Given the description of an element on the screen output the (x, y) to click on. 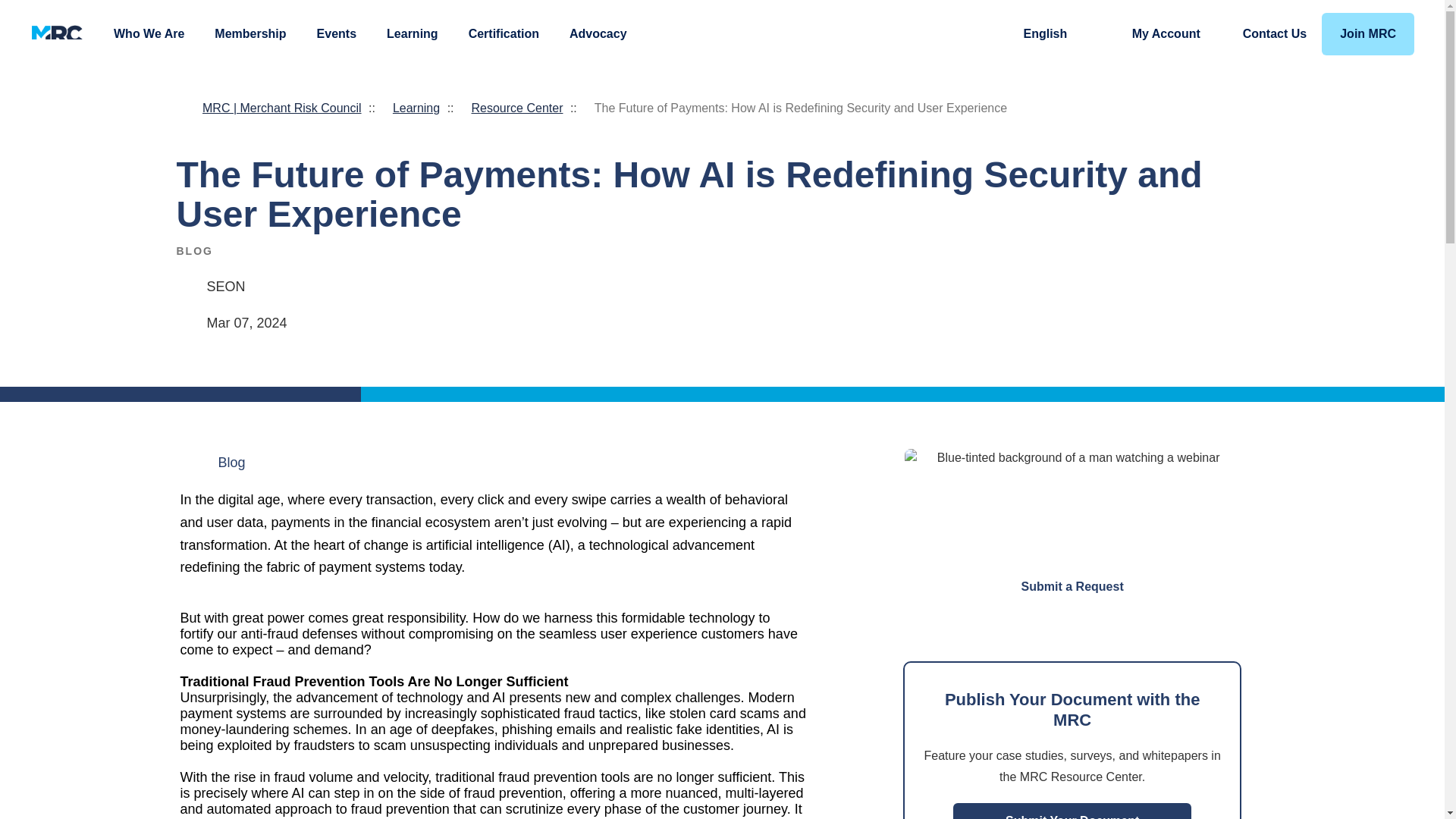
Membership (249, 33)
Who We Are (148, 33)
Events (336, 33)
